Given the description of an element on the screen output the (x, y) to click on. 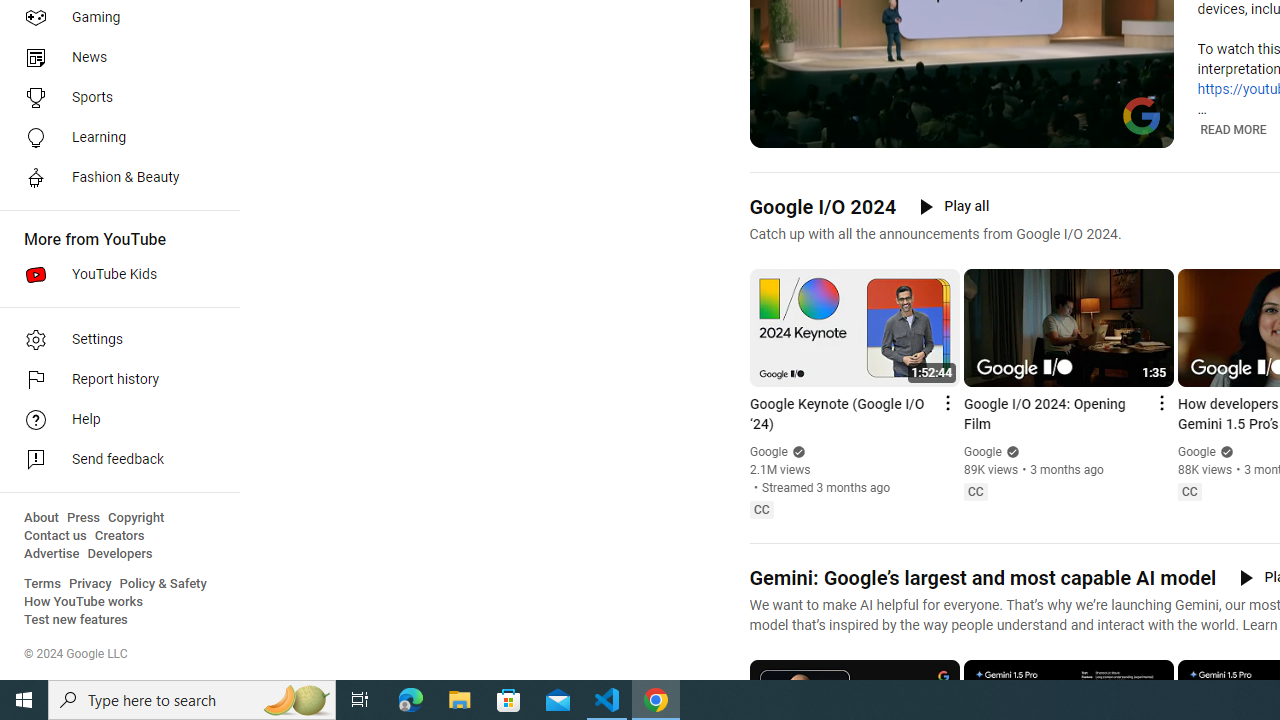
Fashion & Beauty (113, 177)
